Given the description of an element on the screen output the (x, y) to click on. 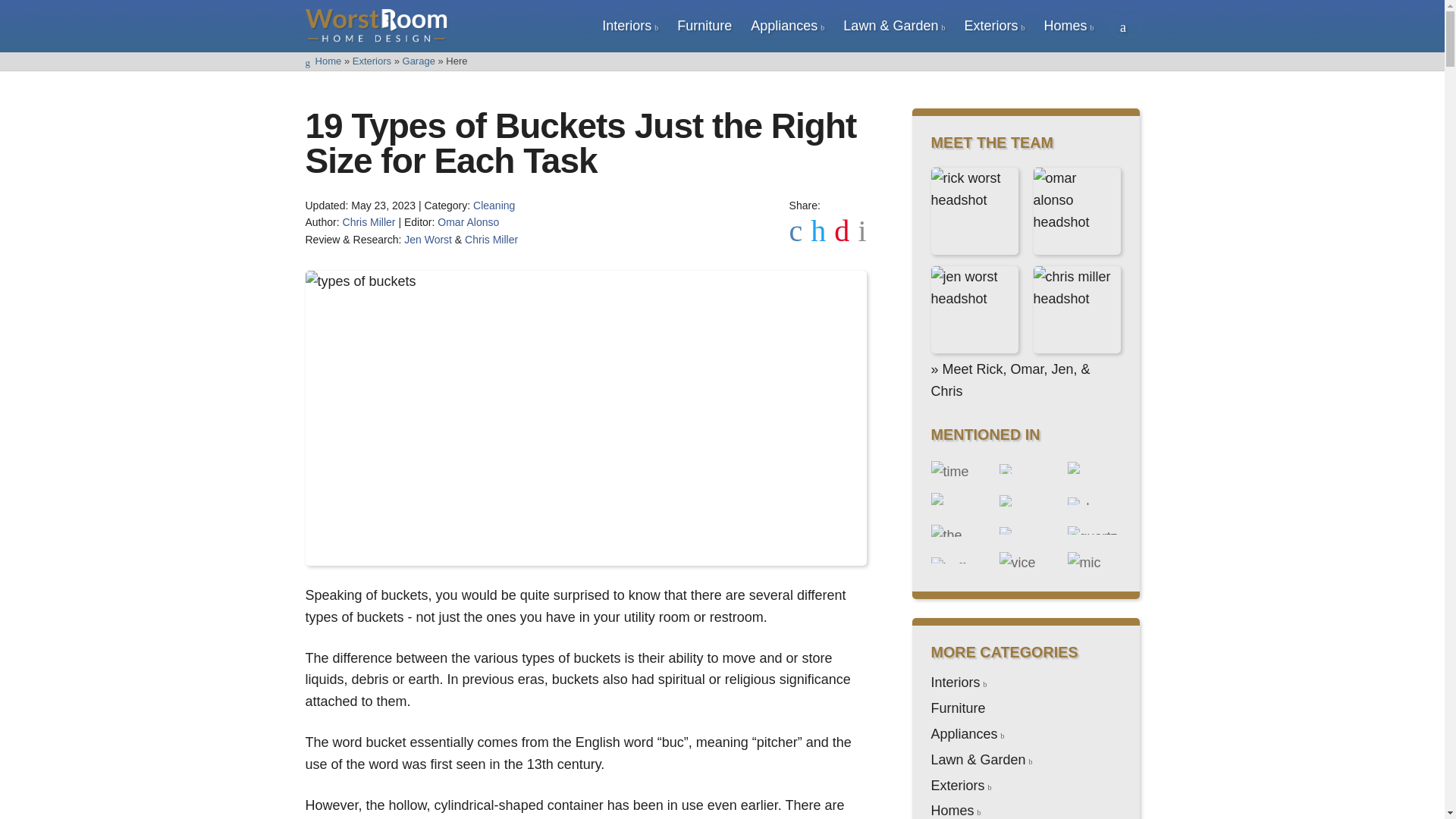
Exteriors (371, 60)
Homes (1064, 25)
Chris Miller (491, 239)
Furniture (704, 25)
Exteriors (990, 25)
Jen Worst (427, 239)
Appliances (783, 25)
Home (322, 60)
Garage (419, 60)
Cleaning (494, 205)
Interiors (626, 25)
Omar Alonso (468, 222)
Chris Miller (369, 222)
